Given the description of an element on the screen output the (x, y) to click on. 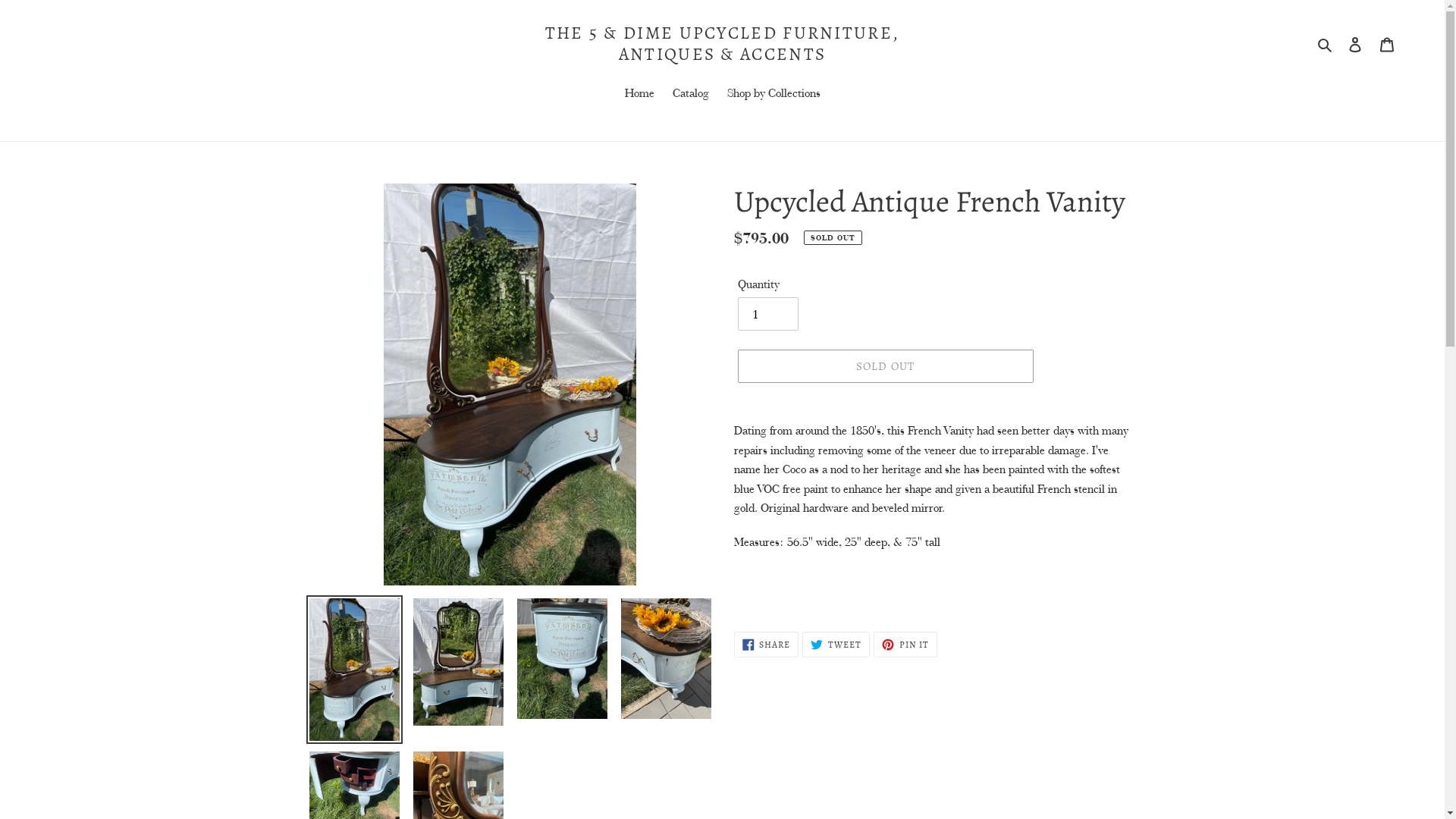
SHARE
SHARE ON FACEBOOK Element type: text (766, 644)
Log in Element type: text (1355, 43)
SOLD OUT Element type: text (884, 365)
Cart Element type: text (1386, 43)
Home Element type: text (639, 94)
Search Element type: text (1325, 43)
Catalog Element type: text (689, 94)
Shop by Collections Element type: text (772, 94)
PIN IT
PIN ON PINTEREST Element type: text (905, 644)
TWEET
TWEET ON TWITTER Element type: text (835, 644)
THE 5 & DIME UPCYCLED FURNITURE, ANTIQUES & ACCENTS Element type: text (721, 43)
